Given the description of an element on the screen output the (x, y) to click on. 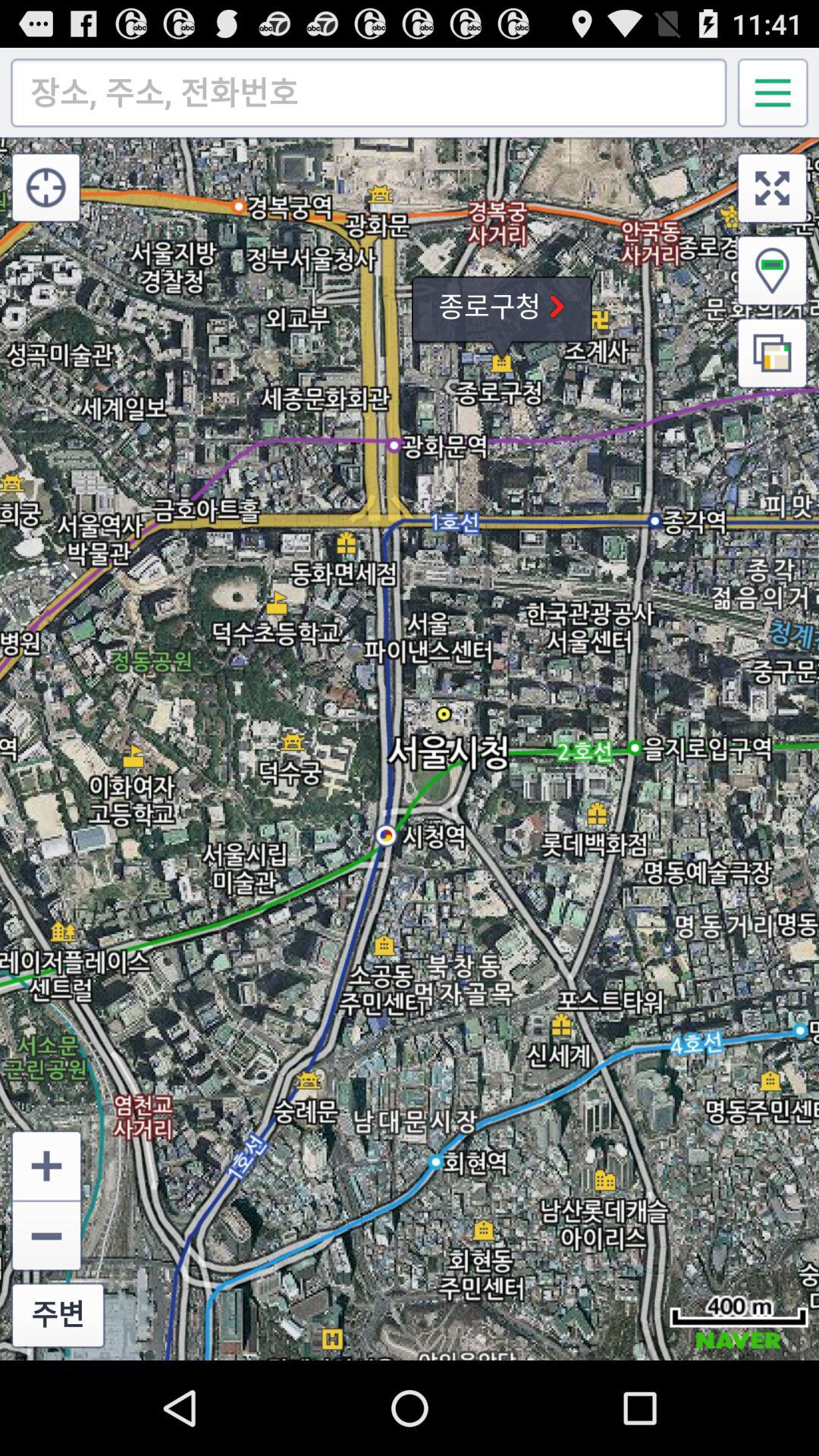
choose icon at the center (409, 703)
